Given the description of an element on the screen output the (x, y) to click on. 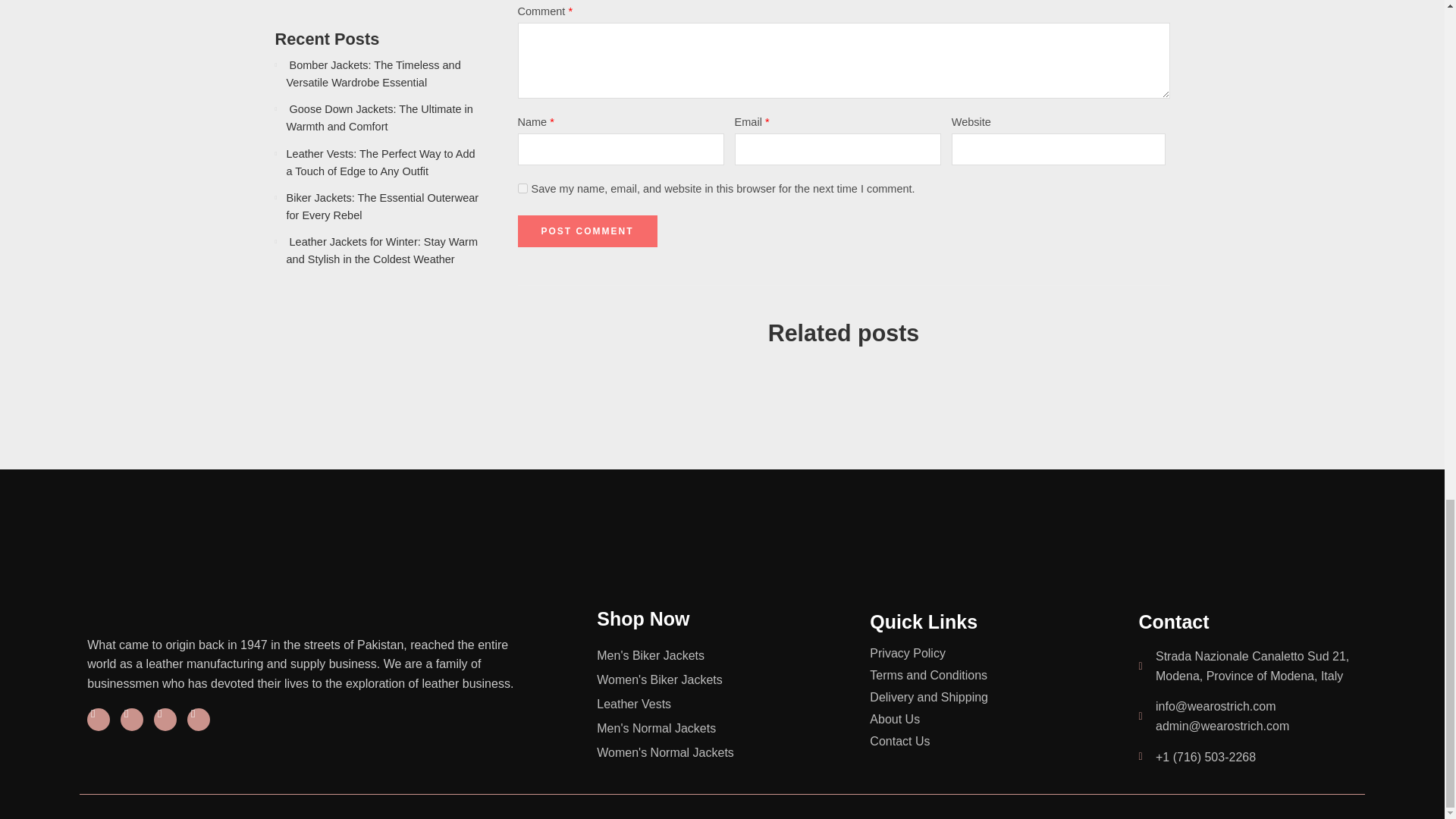
yes (521, 188)
Post Comment (586, 231)
